Given the description of an element on the screen output the (x, y) to click on. 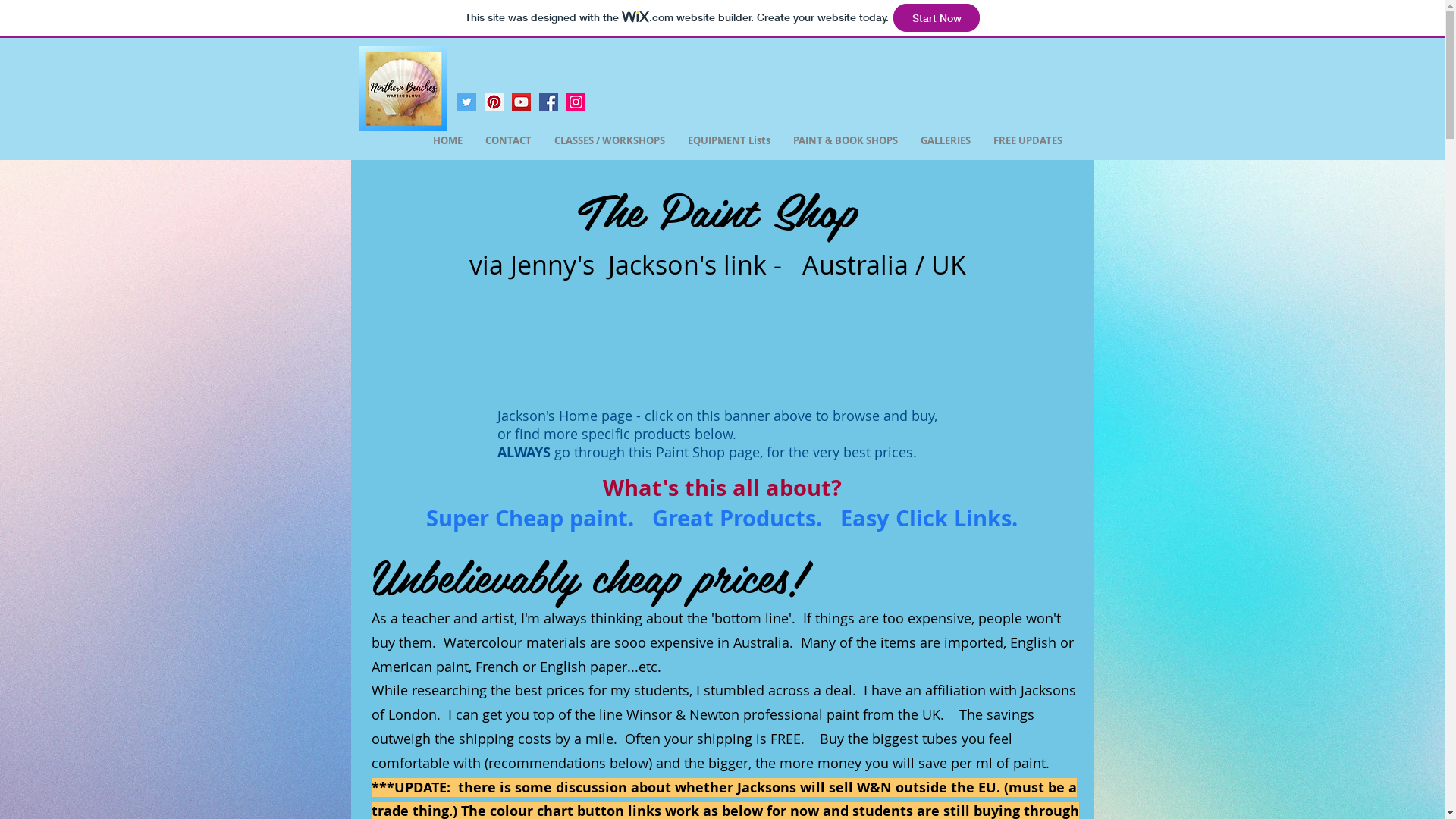
Pin to Pinterest Element type: hover (369, 365)
CONTACT Element type: text (507, 140)
HOME Element type: text (447, 140)
Embedded Content Element type: hover (716, 347)
FREE UPDATES Element type: text (1027, 140)
